Given the description of an element on the screen output the (x, y) to click on. 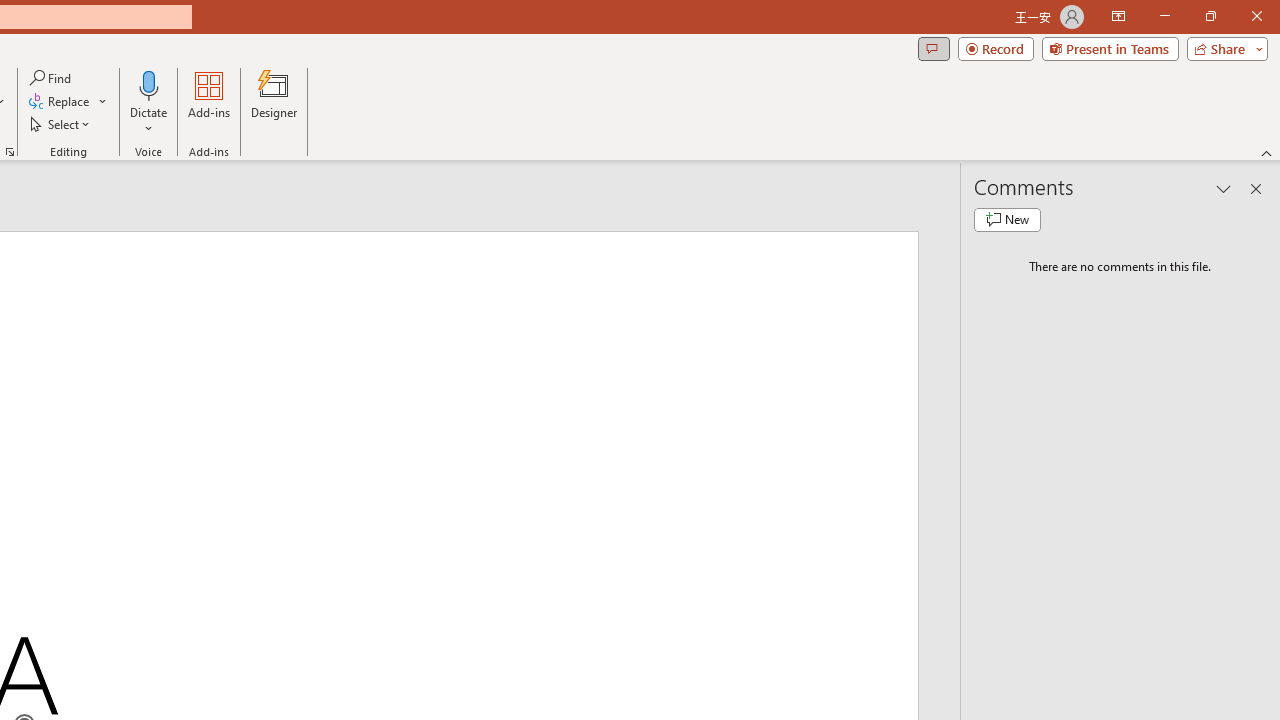
New comment (1007, 219)
